Given the description of an element on the screen output the (x, y) to click on. 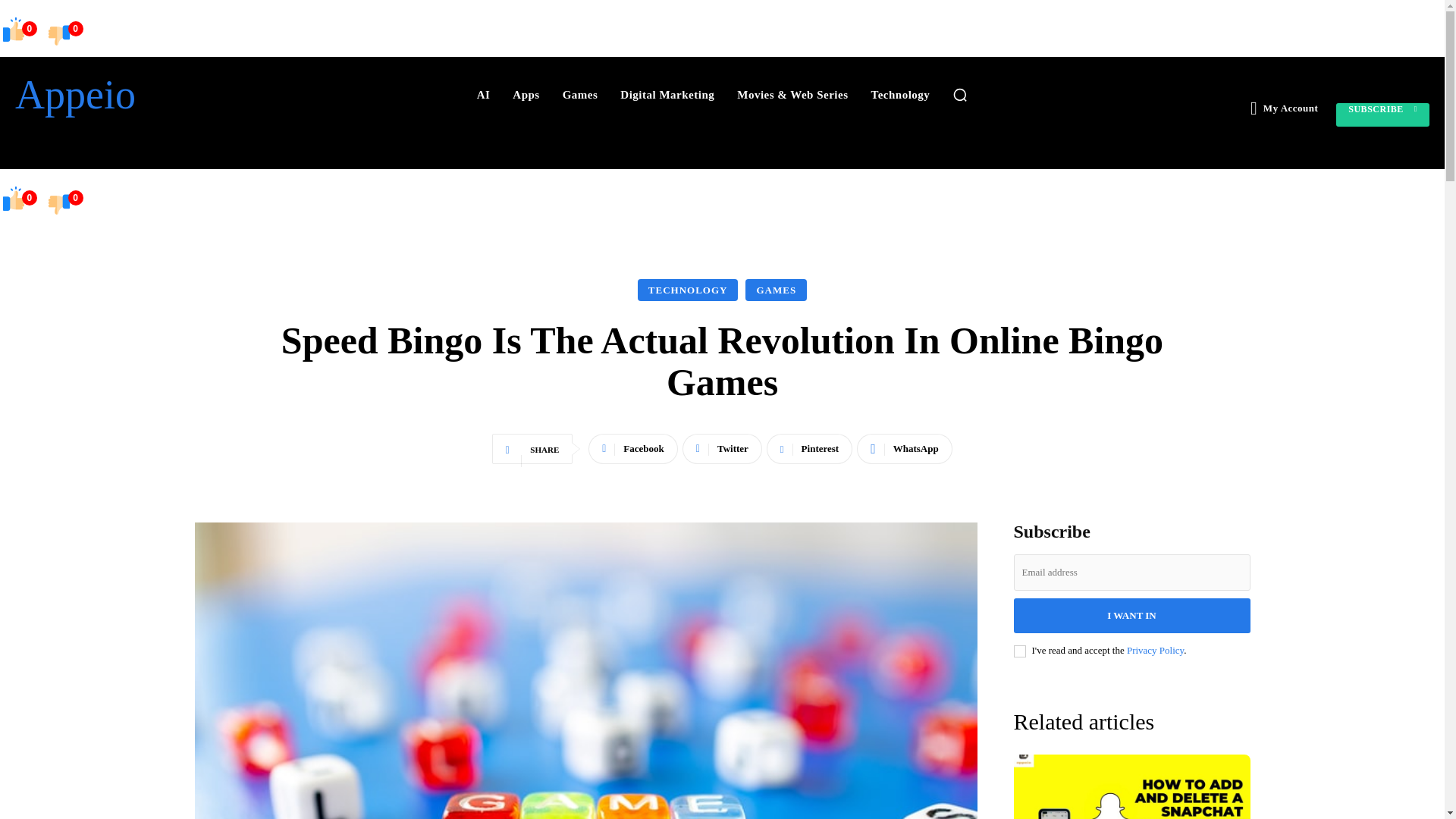
Appeio (127, 94)
Digital Marketing (667, 94)
Subscribe (1382, 114)
Technology (900, 94)
SUBSCRIBE (1382, 114)
Facebook (633, 449)
Appeio (127, 94)
